Given the description of an element on the screen output the (x, y) to click on. 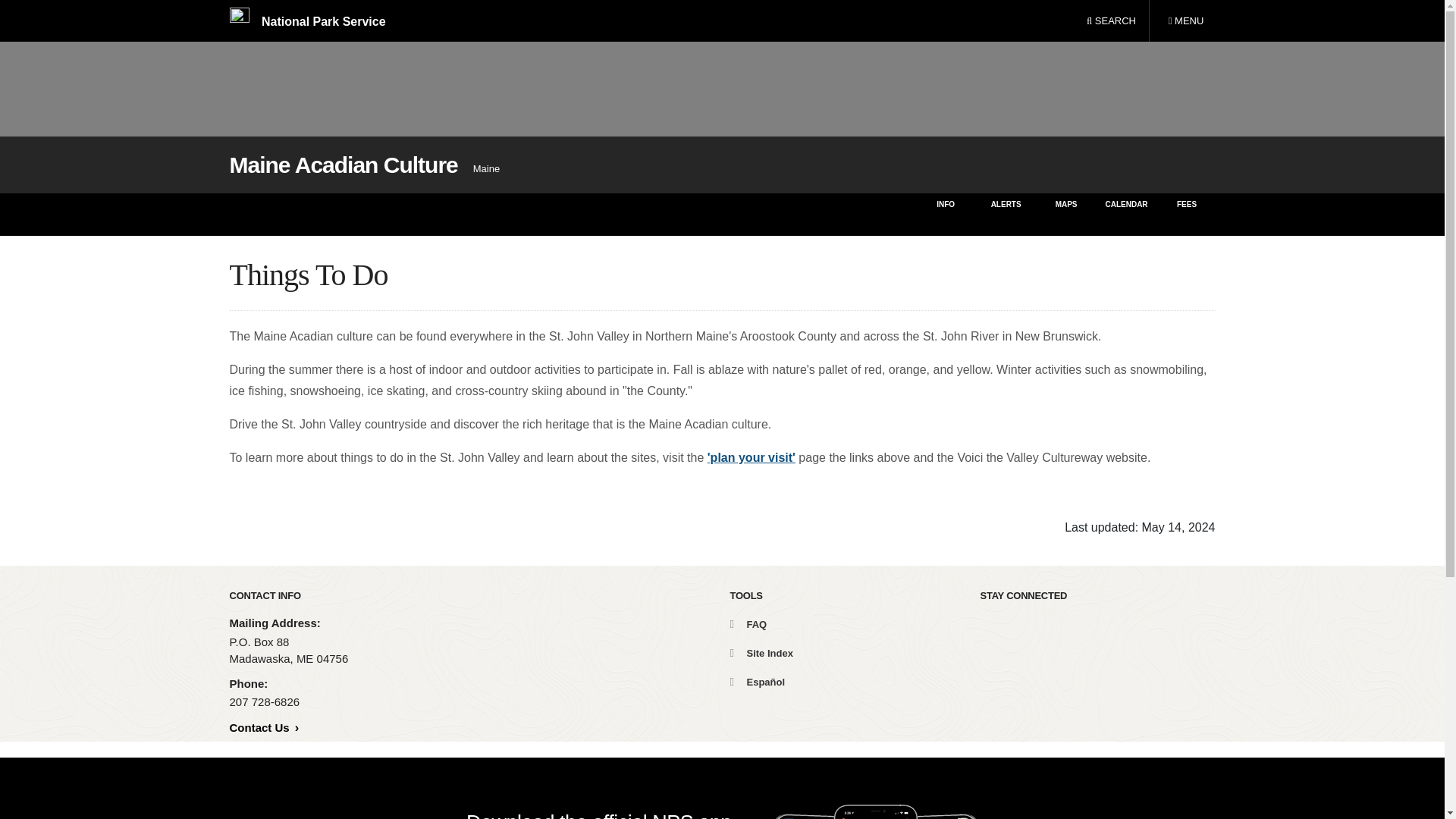
SEARCH (1111, 20)
FAQ (748, 624)
'plan your visit' (750, 457)
ALERTS (1004, 214)
CALENDAR (1125, 214)
Contact Us (263, 727)
National Park Service (307, 20)
MAPS (1066, 214)
INFO (945, 214)
Site Index (760, 653)
